Given the description of an element on the screen output the (x, y) to click on. 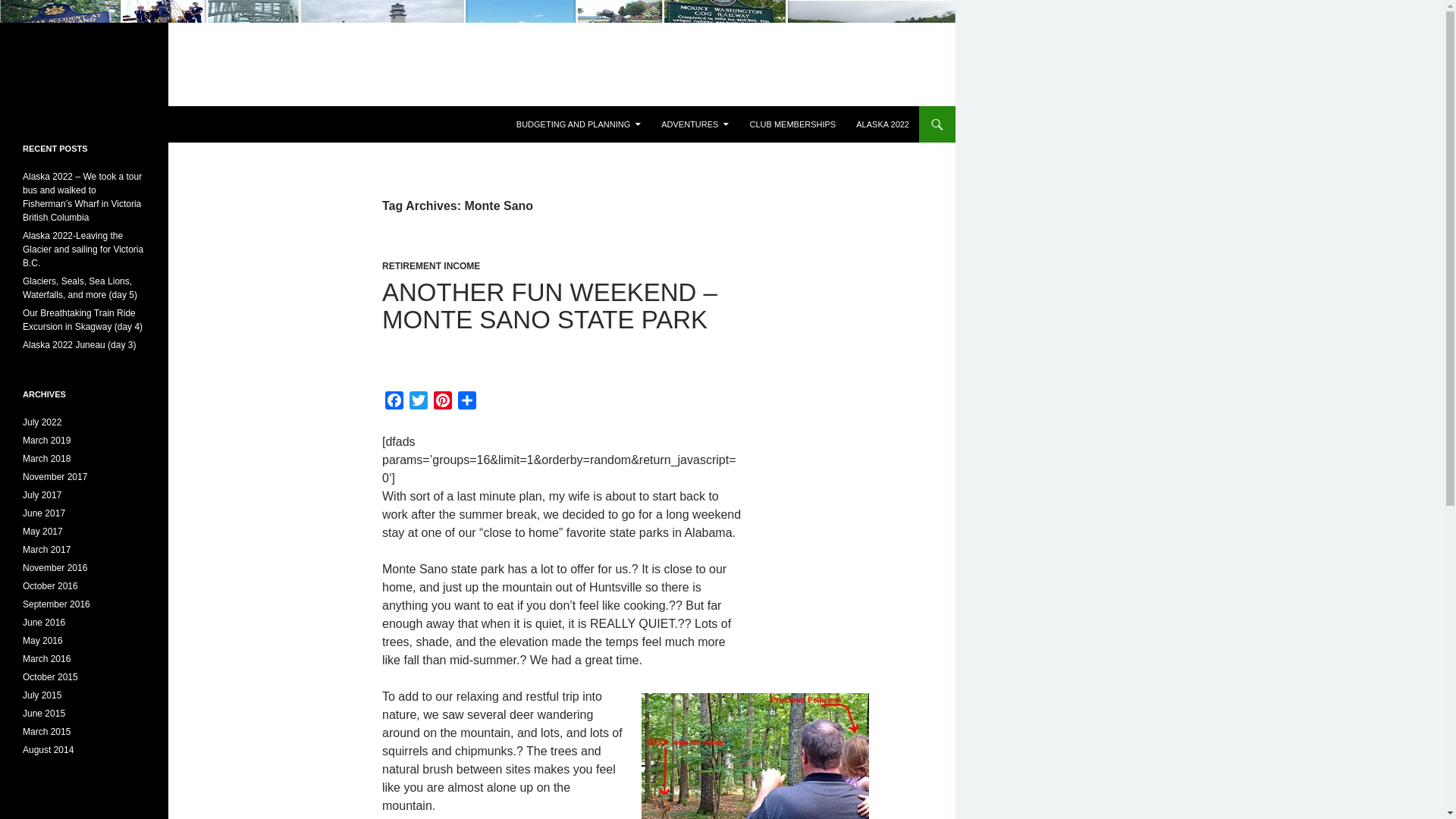
ADVENTURES (695, 124)
ALASKA 2022 (882, 124)
Share (466, 402)
Facebook (393, 402)
Pinterest (442, 402)
July 2022 (42, 421)
RETIREMENT INCOME (430, 266)
RVacationer Adventures (101, 124)
CLUB MEMBERSHIPS (791, 124)
